Given the description of an element on the screen output the (x, y) to click on. 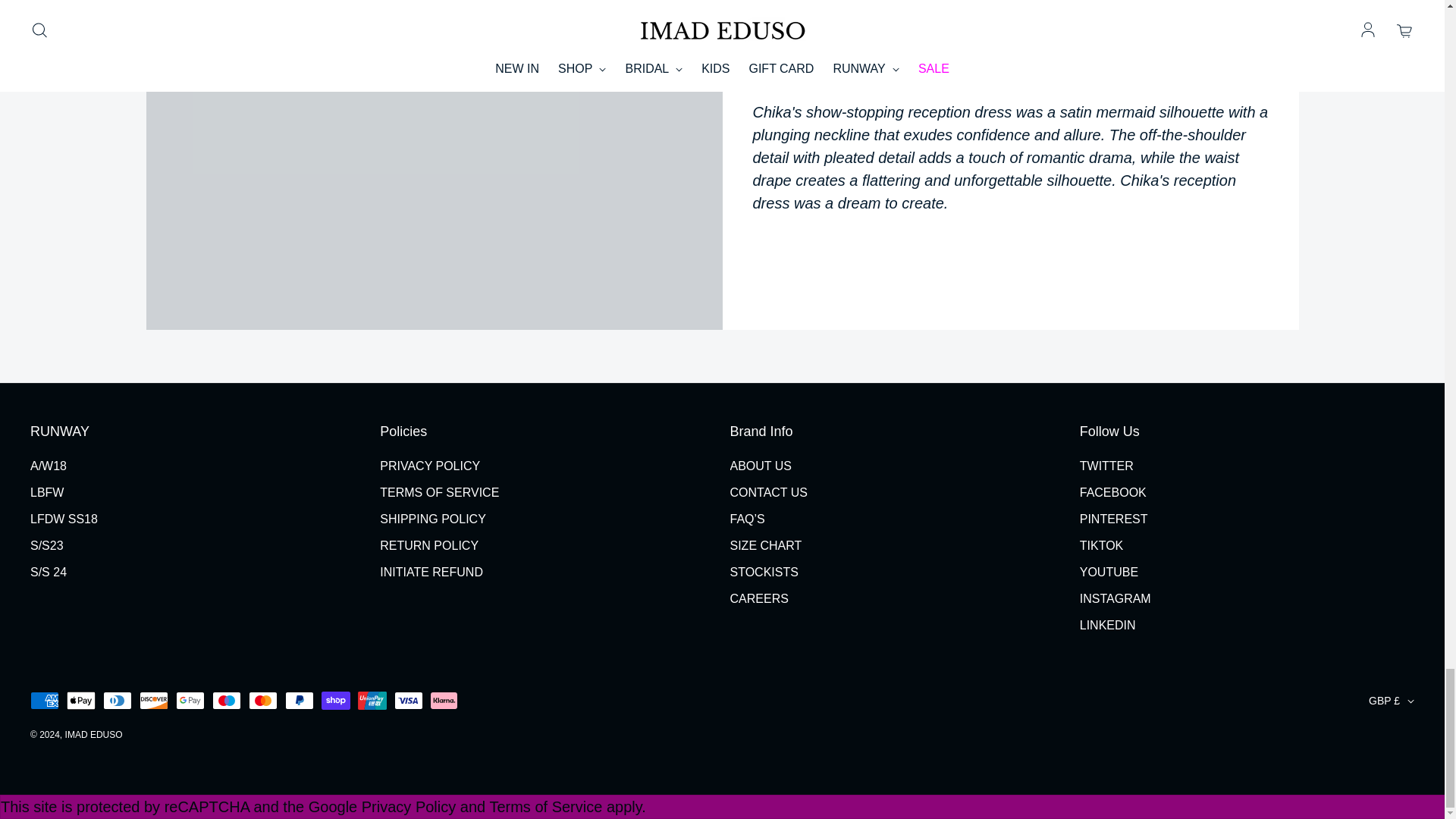
American Express (44, 700)
Maestro (226, 700)
Visa (408, 700)
Apple Pay (81, 700)
Google Pay (190, 700)
Discover (153, 700)
Union Pay (372, 700)
PayPal (299, 700)
Diners Club (117, 700)
Mastercard (263, 700)
